Given the description of an element on the screen output the (x, y) to click on. 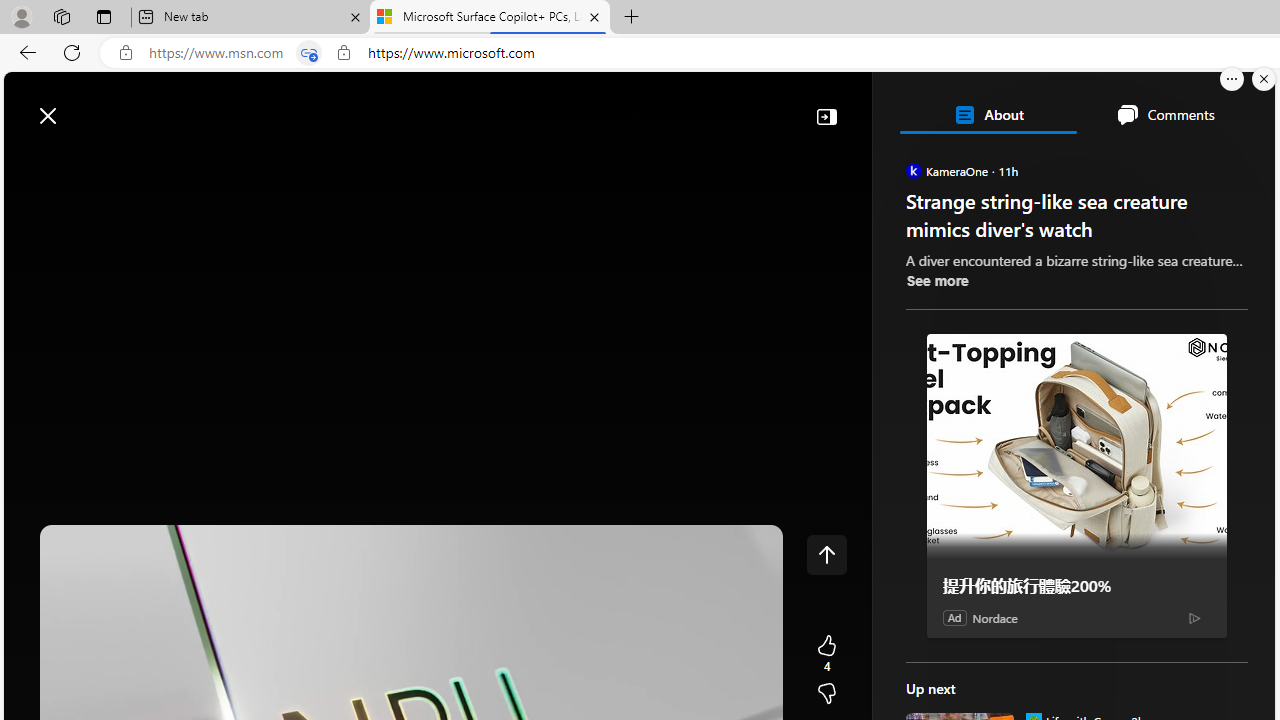
About (987, 114)
The Associated Press (974, 645)
Enter your search term (644, 106)
Microsoft rewards (1151, 105)
Open navigation menu (29, 162)
Personalize (1195, 162)
